Given the description of an element on the screen output the (x, y) to click on. 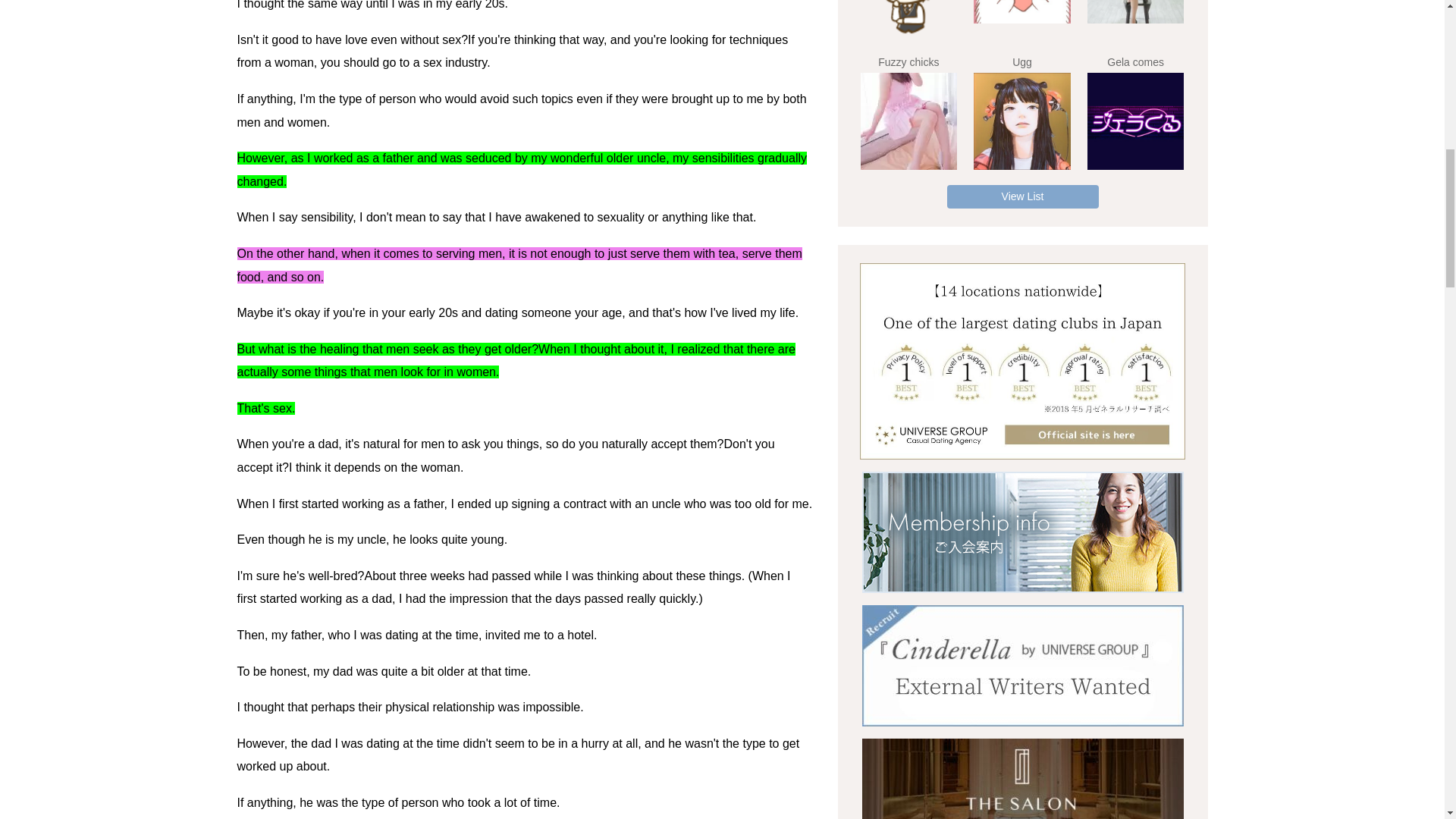
Fuzzy chicks (908, 120)
Miki Fujisaki (1136, 11)
Love Hotel Staff Ueno (908, 19)
Ugg (1022, 120)
Rinko (1022, 11)
Gela comes (1136, 120)
